Given the description of an element on the screen output the (x, y) to click on. 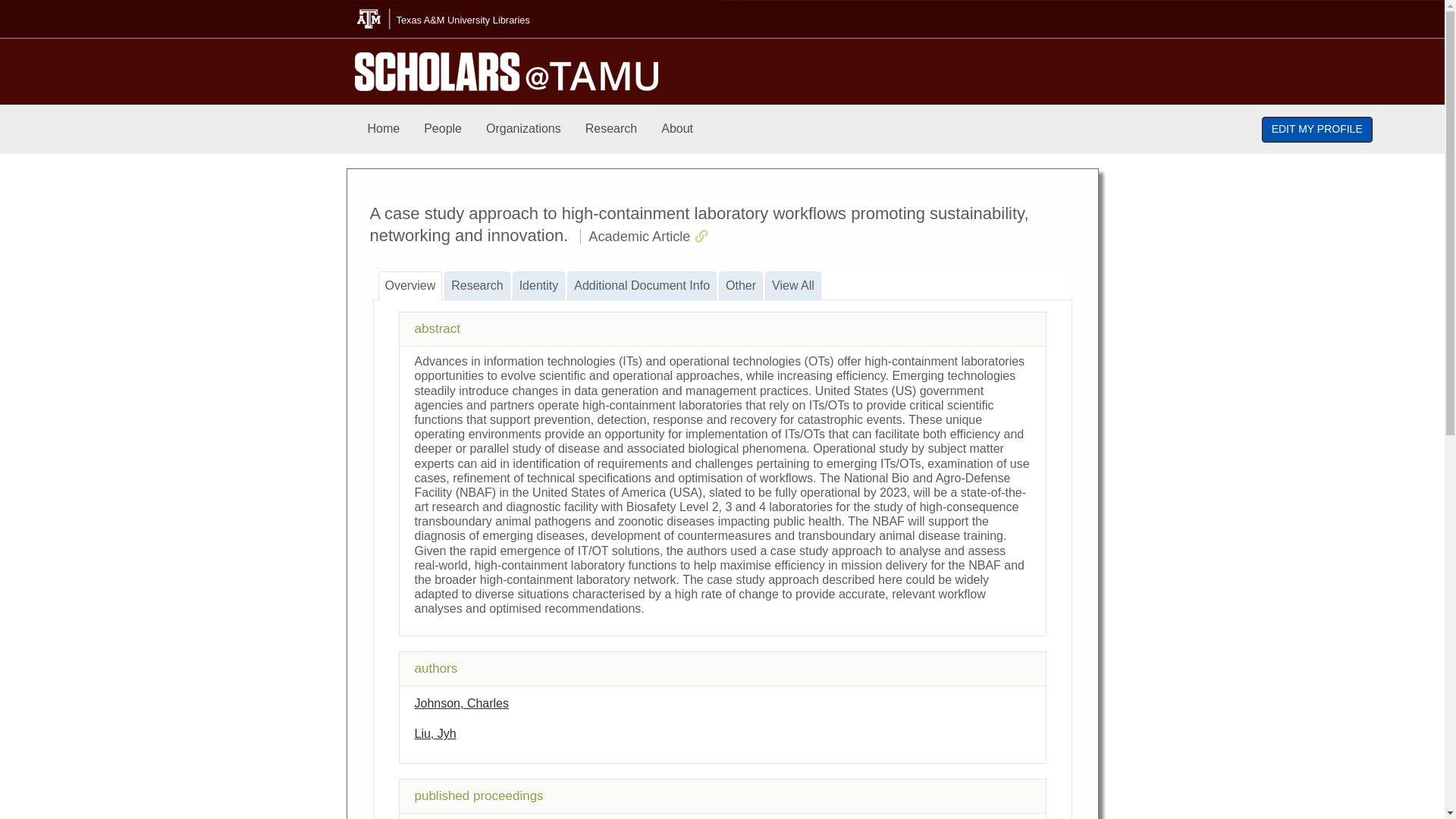
Home menu item (383, 128)
author name (434, 733)
Home (383, 128)
Liu, Jyh (434, 733)
Research (611, 128)
Organizations (523, 128)
People menu item (443, 128)
About (676, 128)
Organizations menu item (523, 128)
About menu item (676, 128)
